Given the description of an element on the screen output the (x, y) to click on. 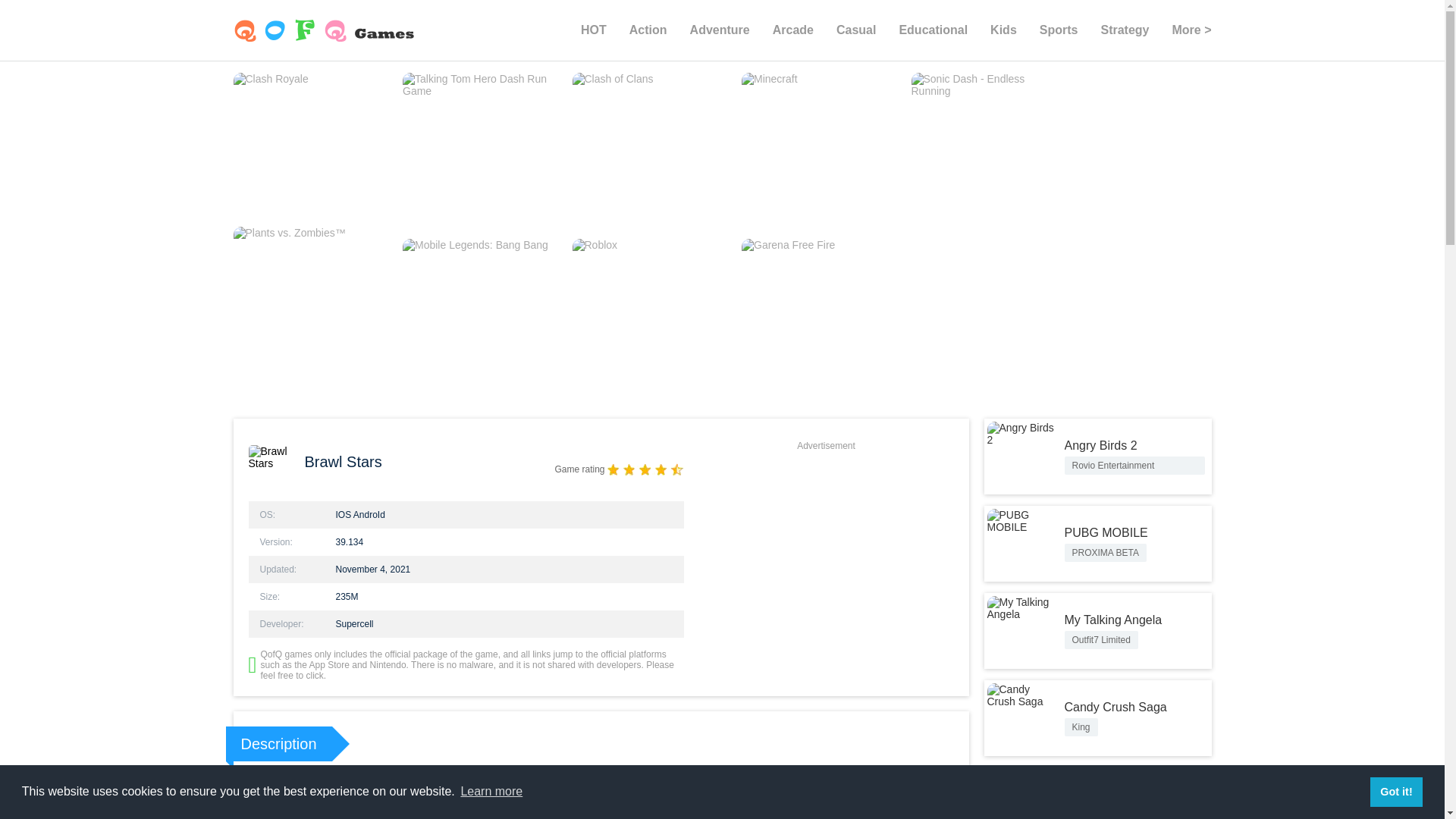
Sports (1058, 29)
Kids (1003, 29)
Learn more (491, 791)
Sonic Dash - Endless Running (988, 149)
Casual (855, 29)
Mobile Legends: Bang Bang (479, 315)
Clash of Clans (648, 149)
Arcade (793, 29)
Talking Tom Hero Dash Run Game (479, 149)
Educational (933, 29)
